Given the description of an element on the screen output the (x, y) to click on. 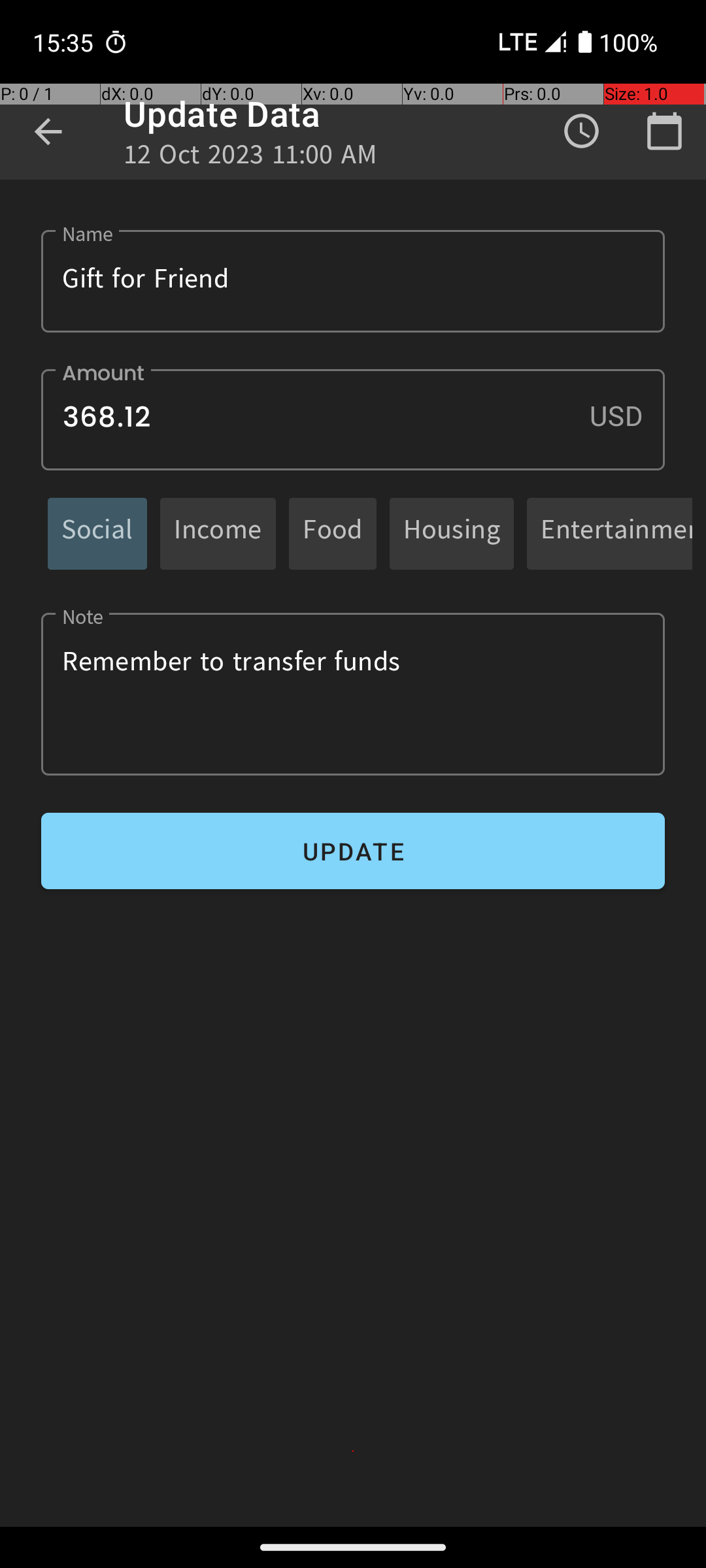
12 Oct 2023 11:00 AM Element type: android.widget.TextView (250, 157)
Gift for Friend Element type: android.widget.EditText (352, 280)
368.12 Element type: android.widget.EditText (352, 419)
